Given the description of an element on the screen output the (x, y) to click on. 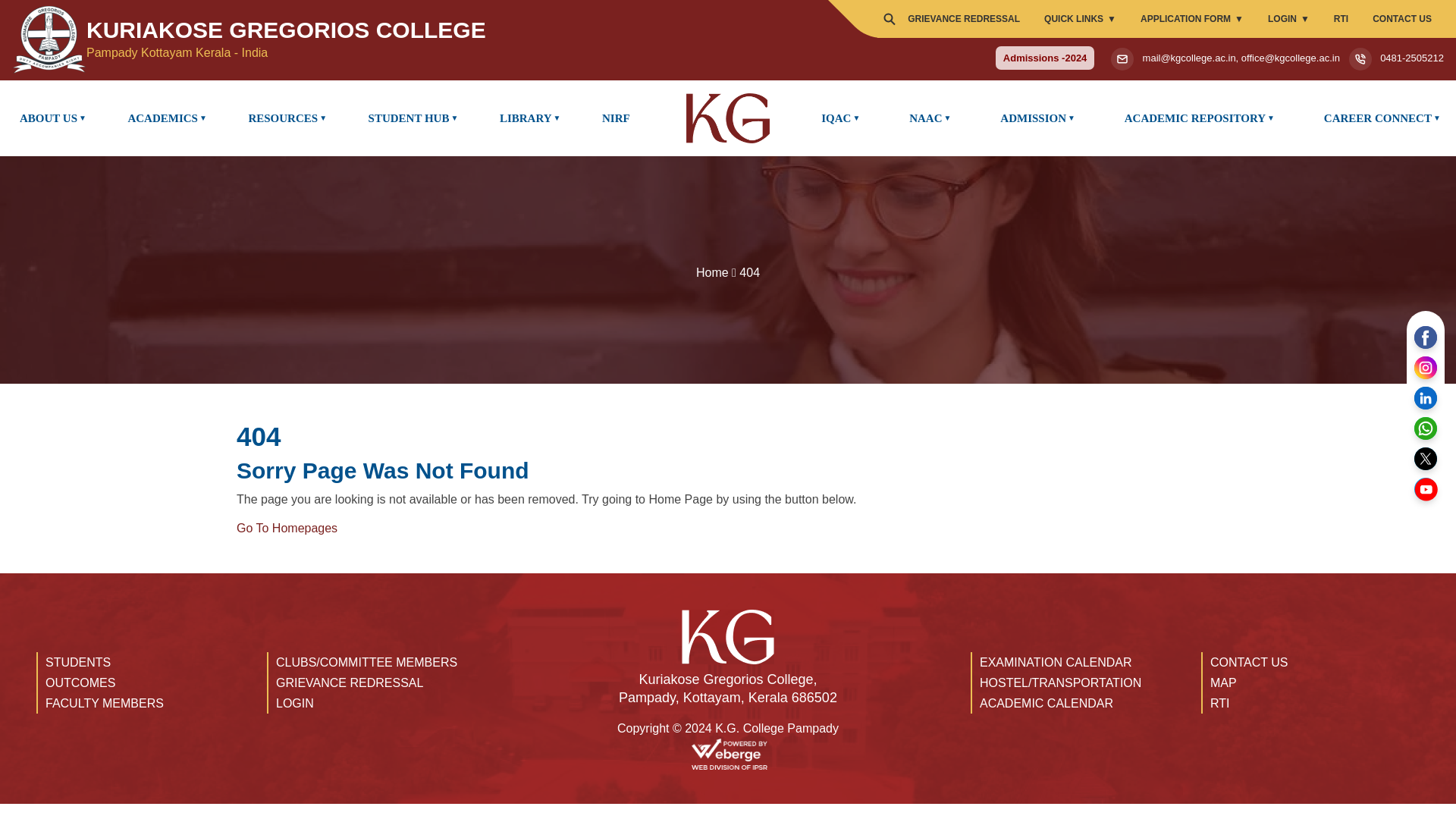
ABOUT US (49, 118)
0481-2505212 (1412, 57)
CONTACT US (1401, 18)
RTI (1340, 18)
Admissions -2024 (1044, 57)
APPLICATION FORM (1191, 18)
LOGIN (1288, 18)
GRIEVANCE REDRESSAL (963, 18)
QUICK LINKS (1080, 18)
